Given the description of an element on the screen output the (x, y) to click on. 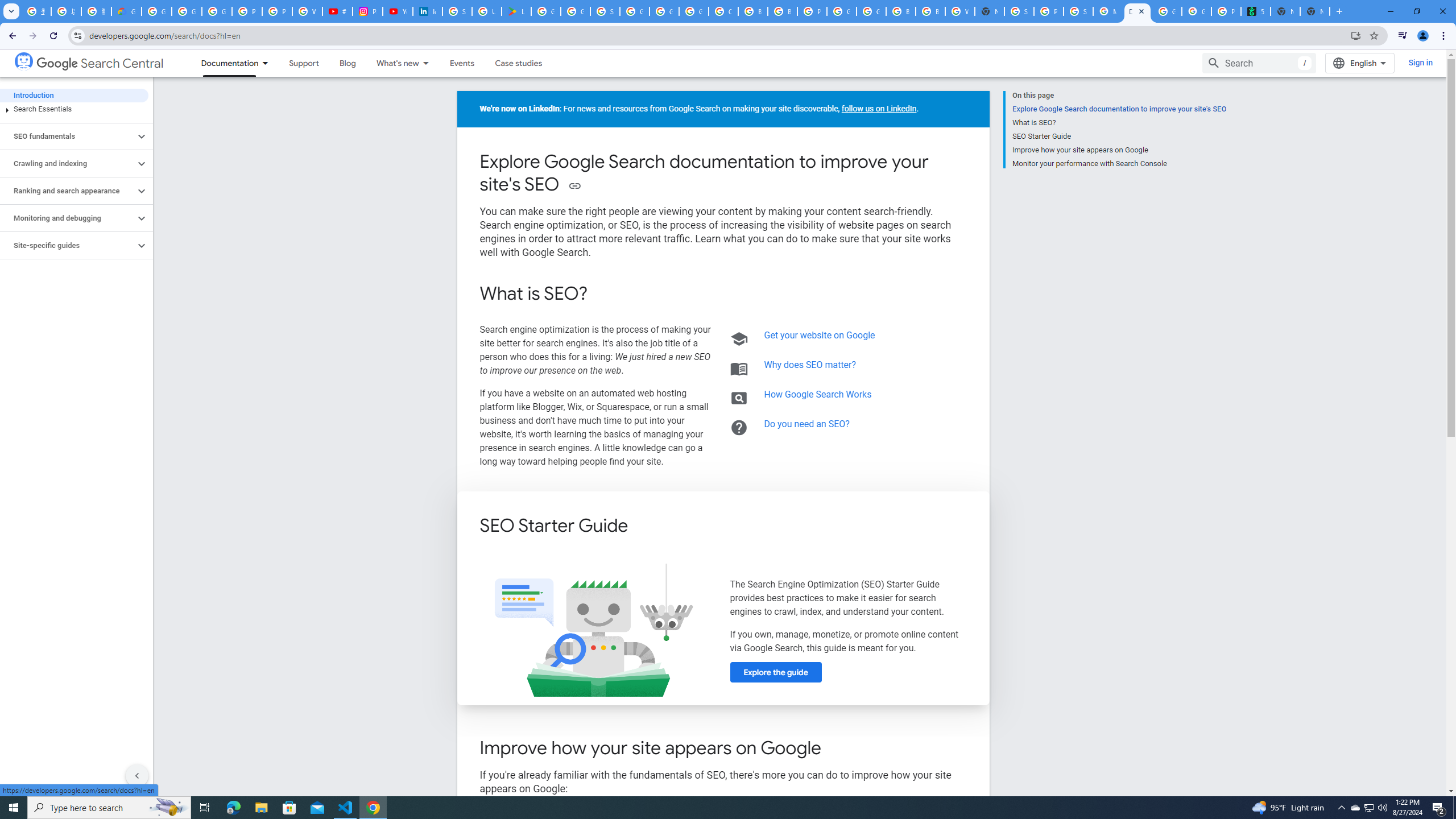
Browse Chrome as a guest - Computer - Google Chrome Help (753, 11)
Google Cloud Platform (664, 11)
English (1359, 63)
Sign in - Google Accounts (456, 11)
